Given the description of an element on the screen output the (x, y) to click on. 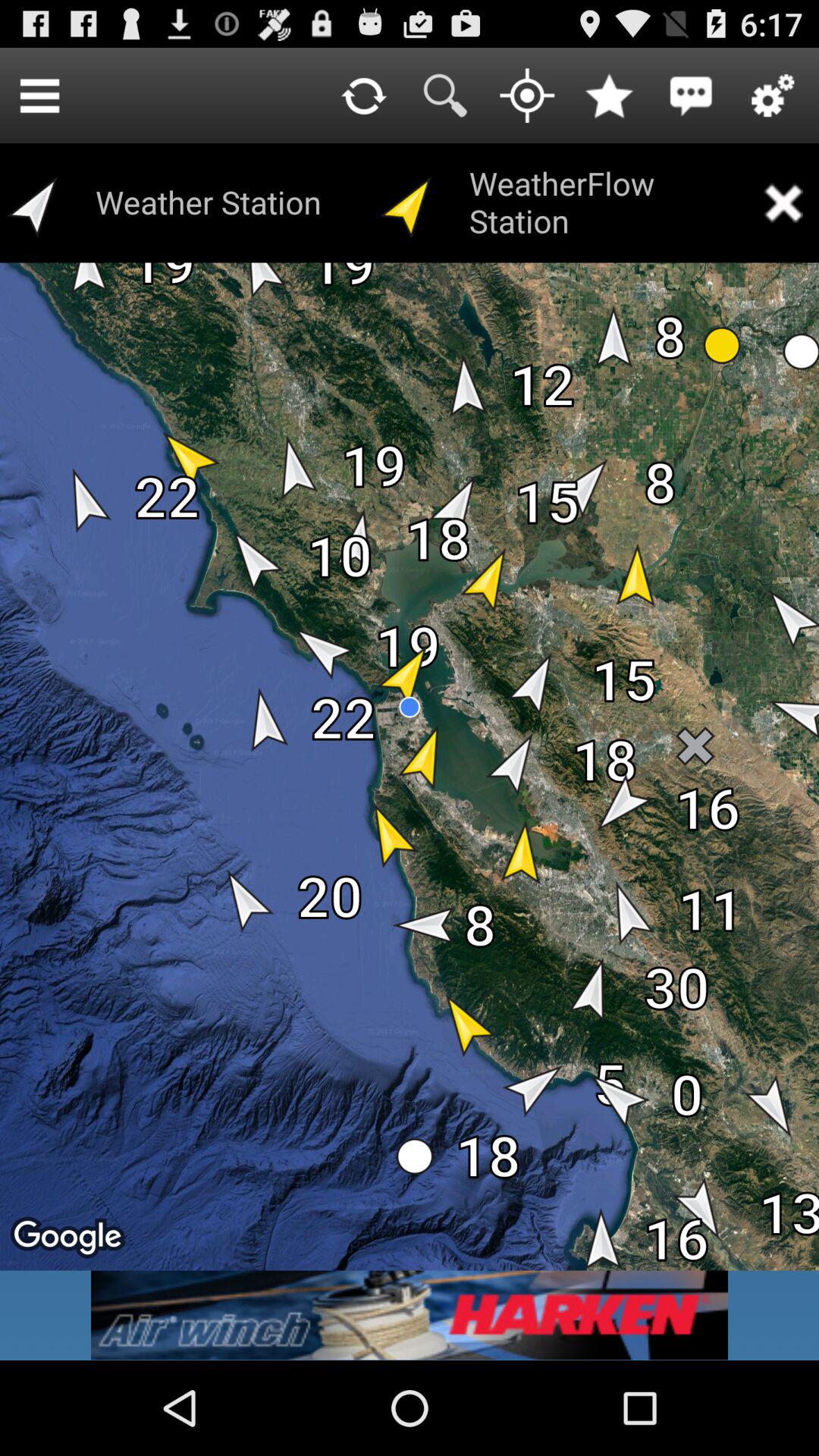
go to the point on the map (527, 95)
